Given the description of an element on the screen output the (x, y) to click on. 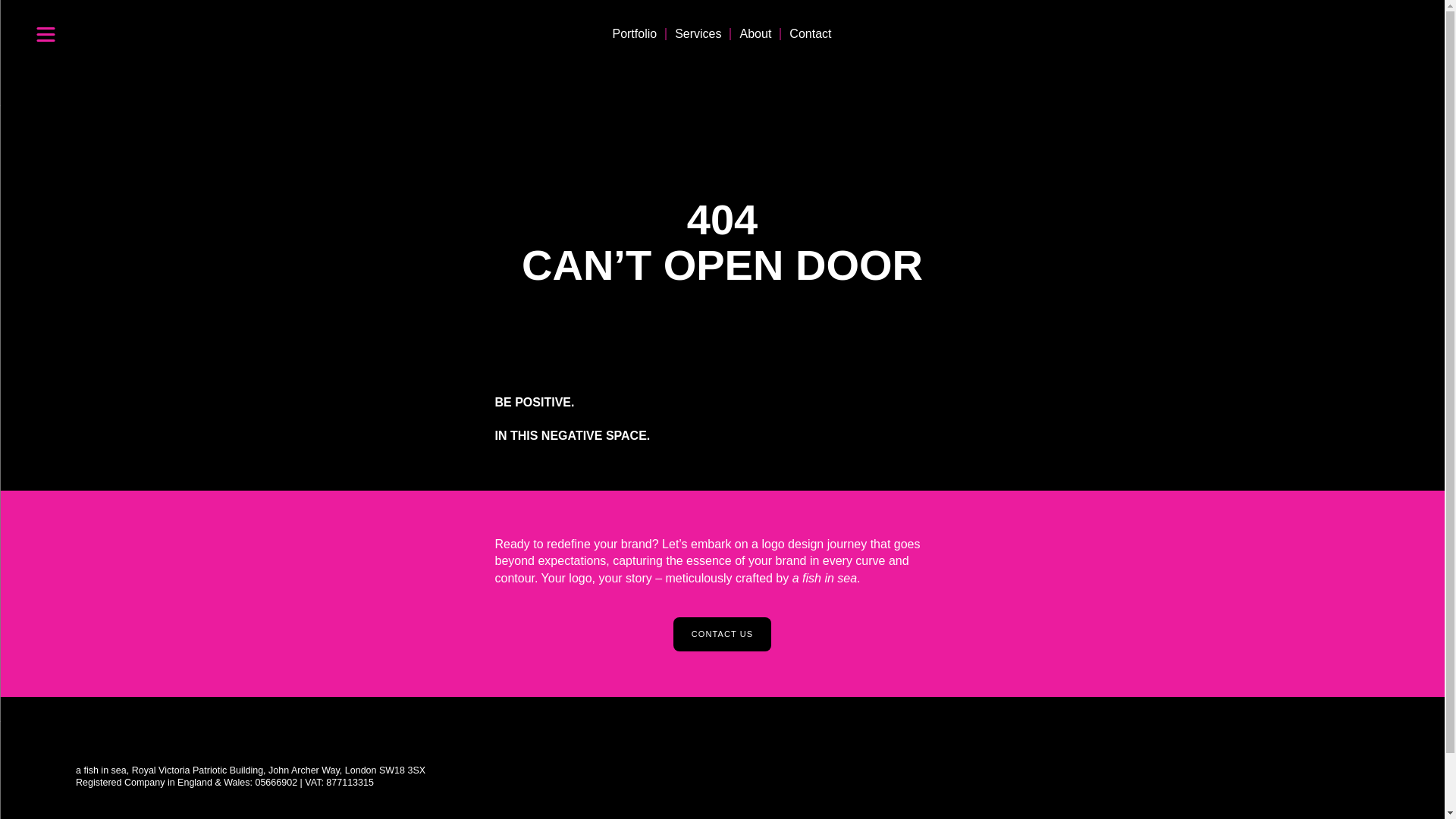
About (755, 33)
Portfolio (633, 33)
Contact (810, 33)
Services (697, 33)
